Given the description of an element on the screen output the (x, y) to click on. 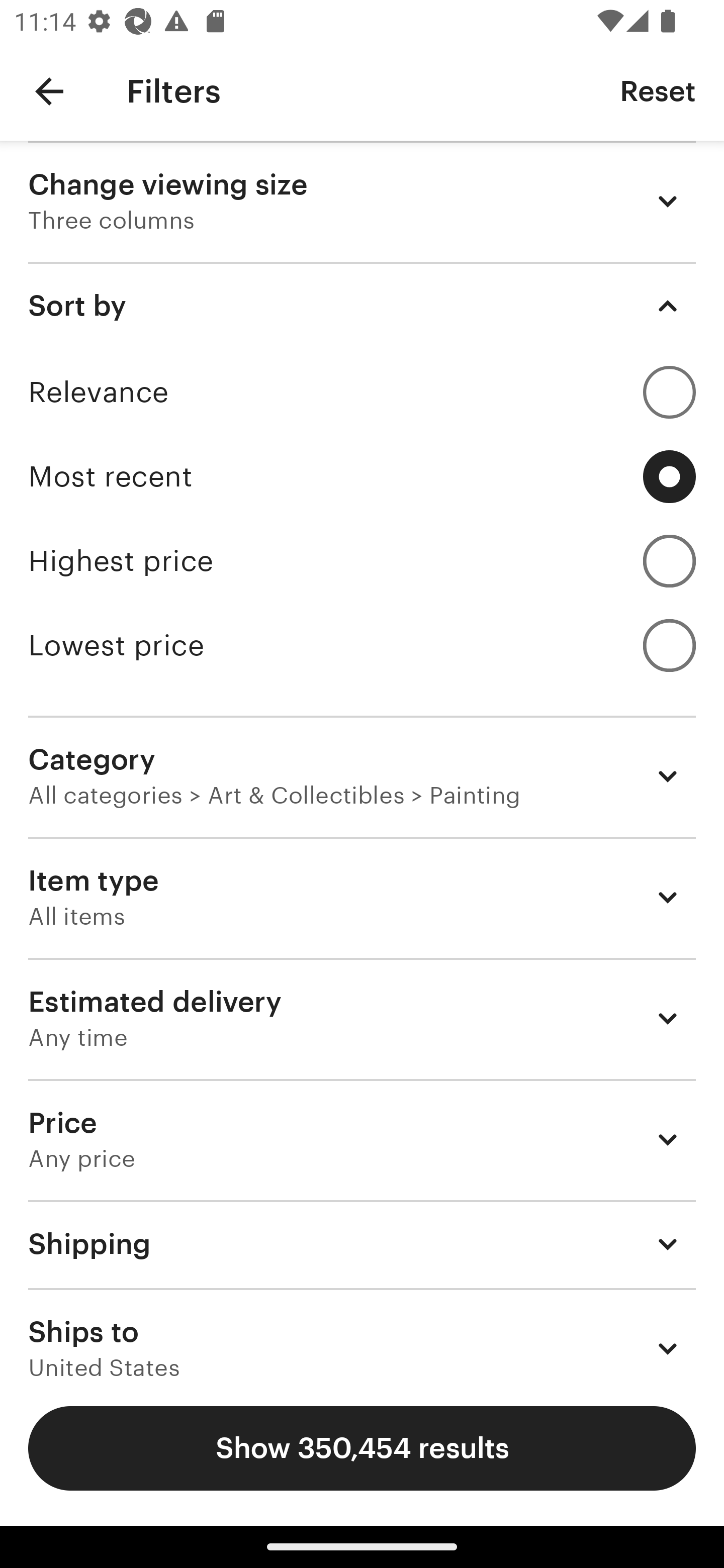
Navigate up (49, 91)
Reset (657, 90)
Change viewing size Three columns (362, 201)
Sort by (362, 305)
Relevance (362, 391)
Most recent (362, 476)
Highest price (362, 561)
Lowest price (362, 644)
Item type All items (362, 897)
Estimated delivery Any time (362, 1018)
Price Any price (362, 1138)
Shipping (362, 1243)
Ships to United States (362, 1332)
Show 350,454 results (361, 1448)
